Given the description of an element on the screen output the (x, y) to click on. 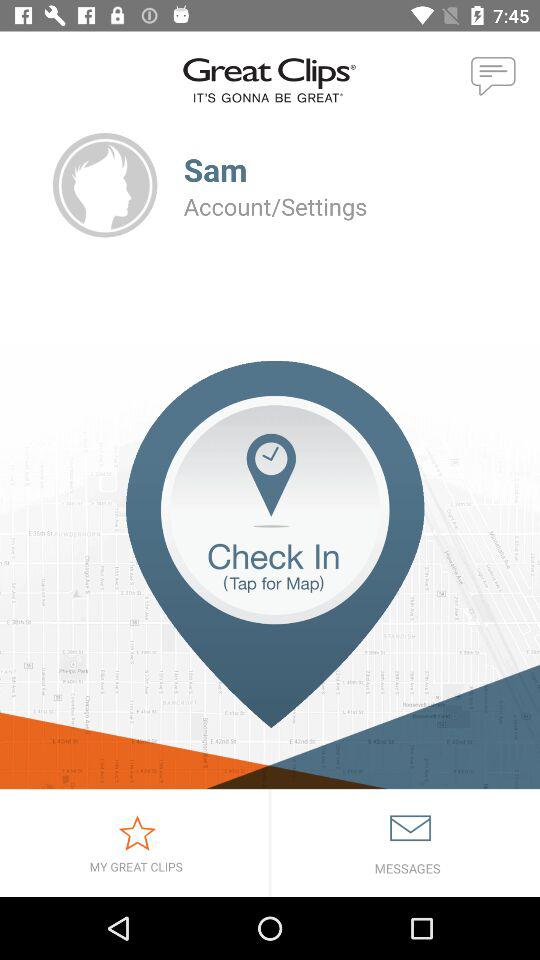
press icon at the top right corner (494, 77)
